Given the description of an element on the screen output the (x, y) to click on. 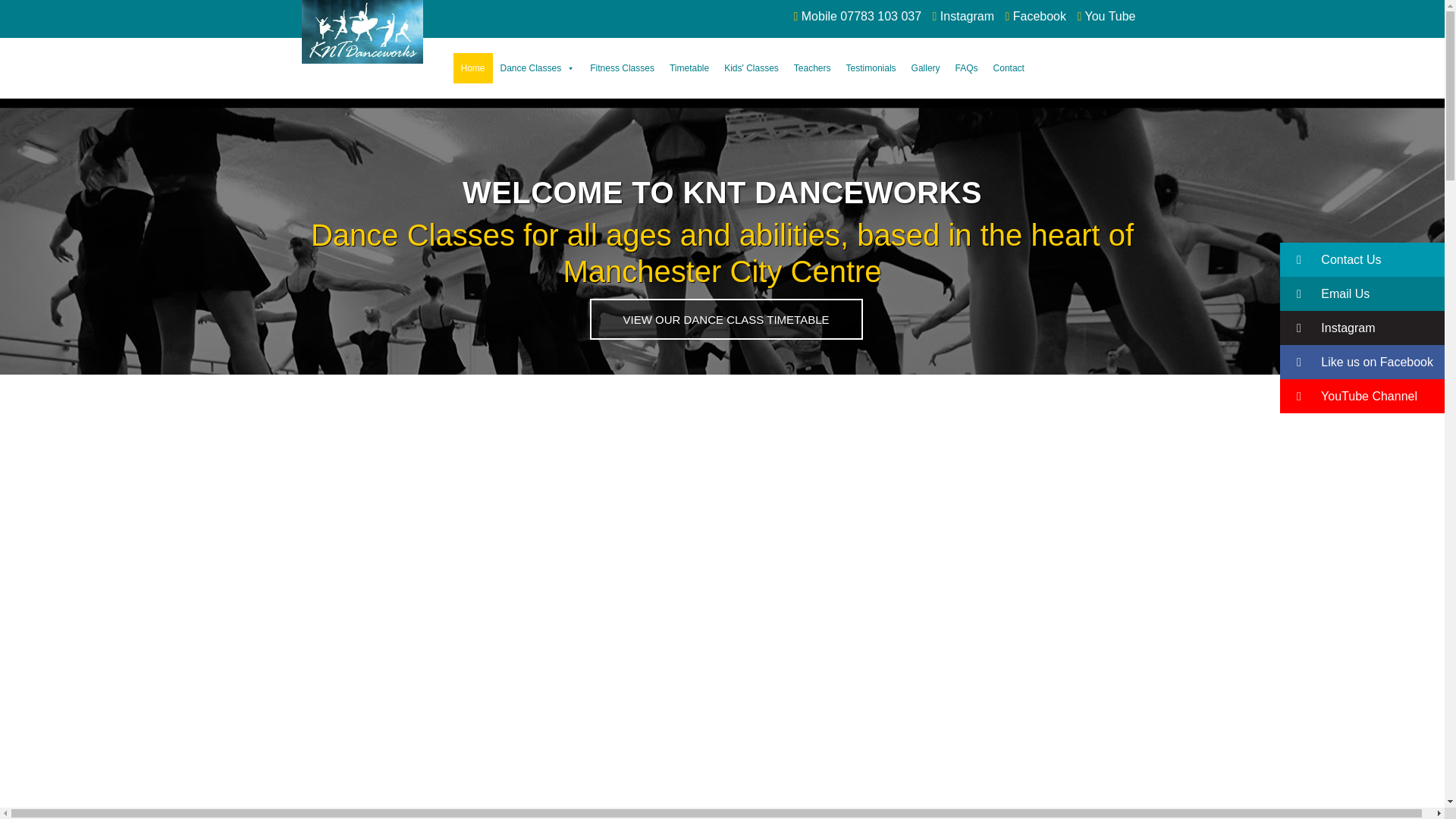
FAQs (966, 68)
Gallery (925, 68)
You Tube (1109, 15)
Instagram (970, 15)
Fitness Classes (622, 68)
Facebook (1043, 15)
VIEW OUR DANCE CLASS TIMETABLE (726, 318)
Kids' Classes (751, 68)
Testimonials (871, 68)
Dance Classes (538, 68)
